Given the description of an element on the screen output the (x, y) to click on. 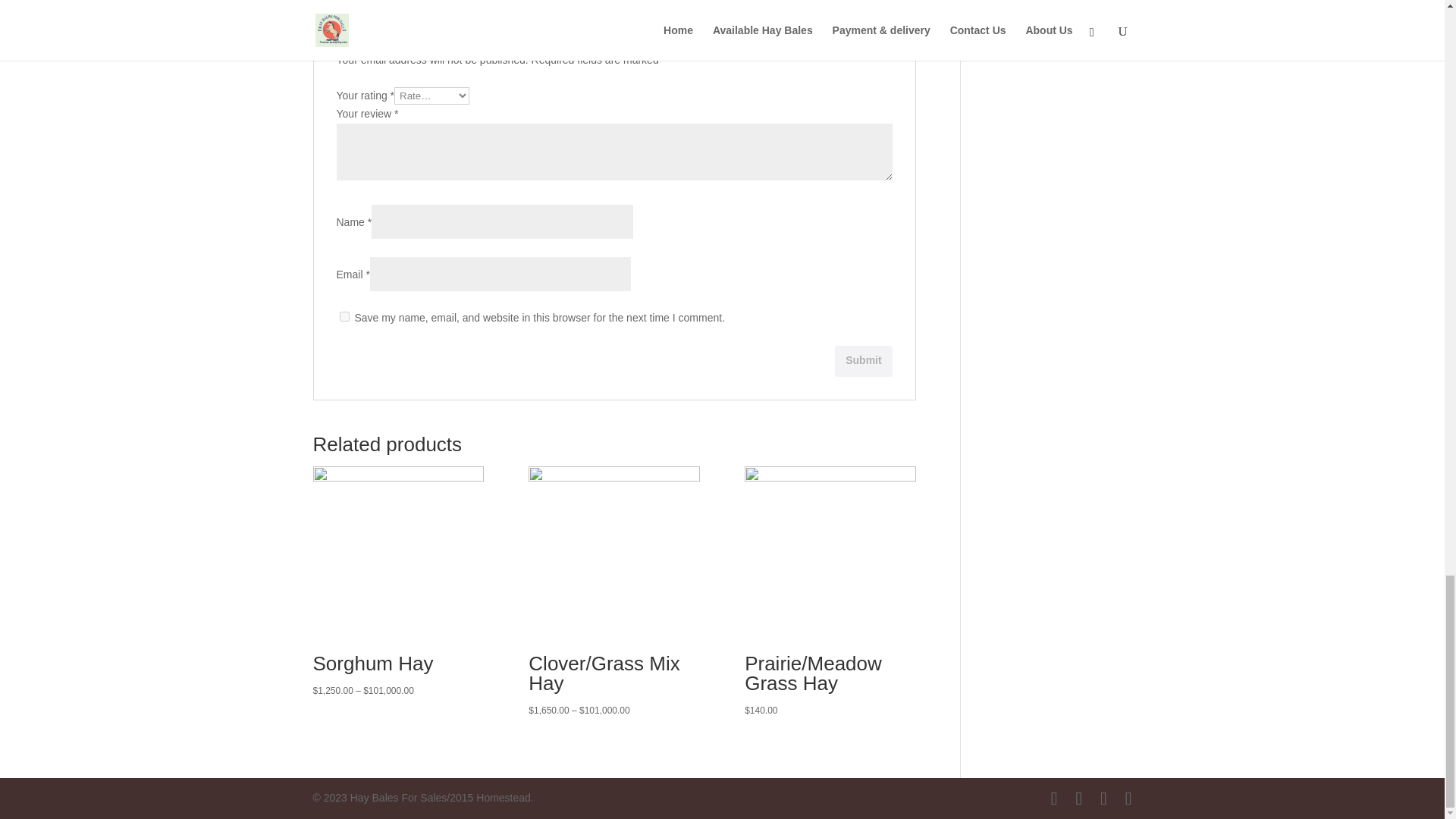
Submit (862, 360)
Submit (862, 360)
yes (344, 316)
